Given the description of an element on the screen output the (x, y) to click on. 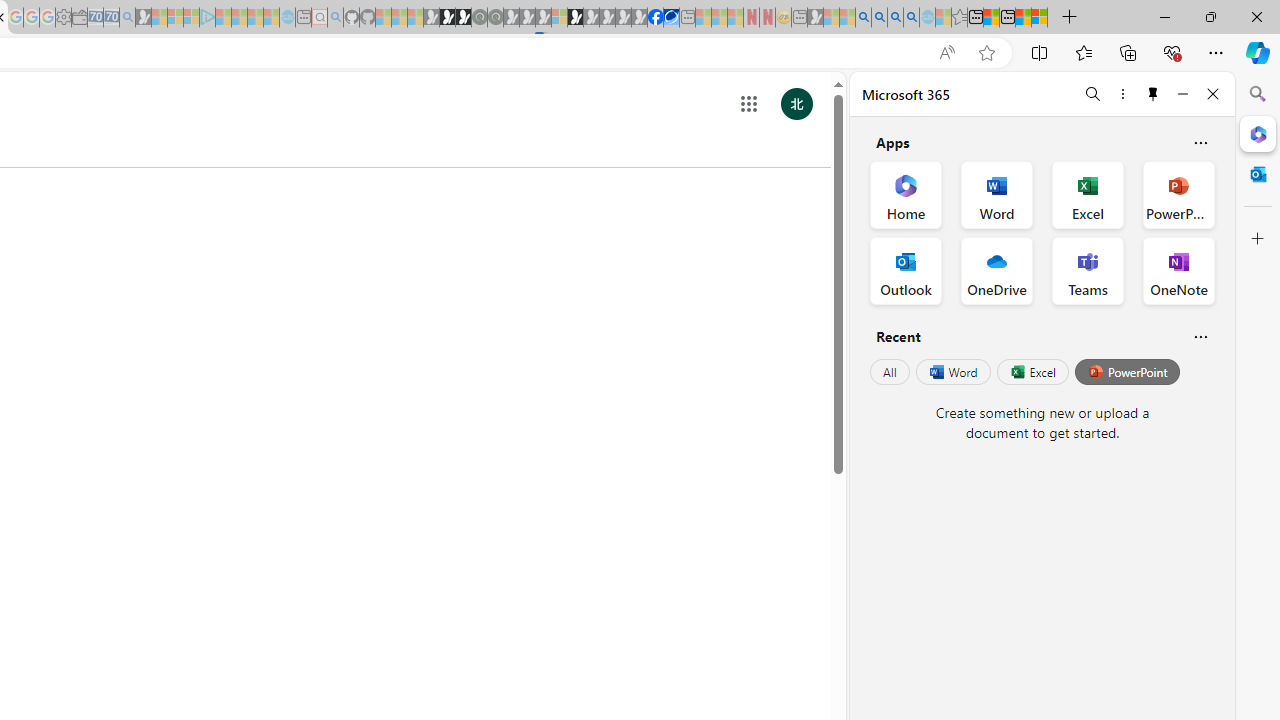
Play Zoo Boom in your browser | Games from Microsoft Start (447, 17)
